Given the description of an element on the screen output the (x, y) to click on. 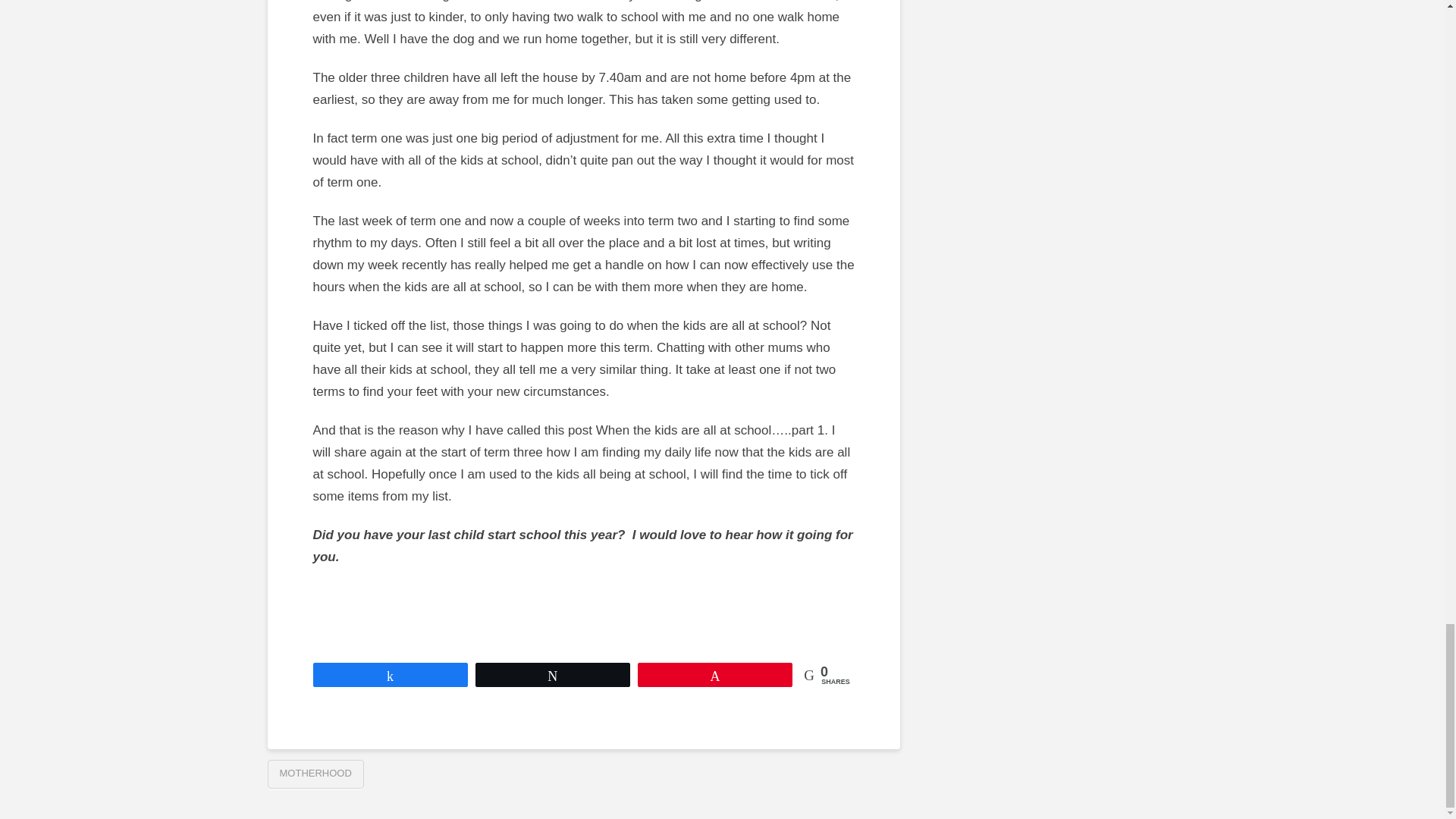
MOTHERHOOD (314, 774)
